Given the description of an element on the screen output the (x, y) to click on. 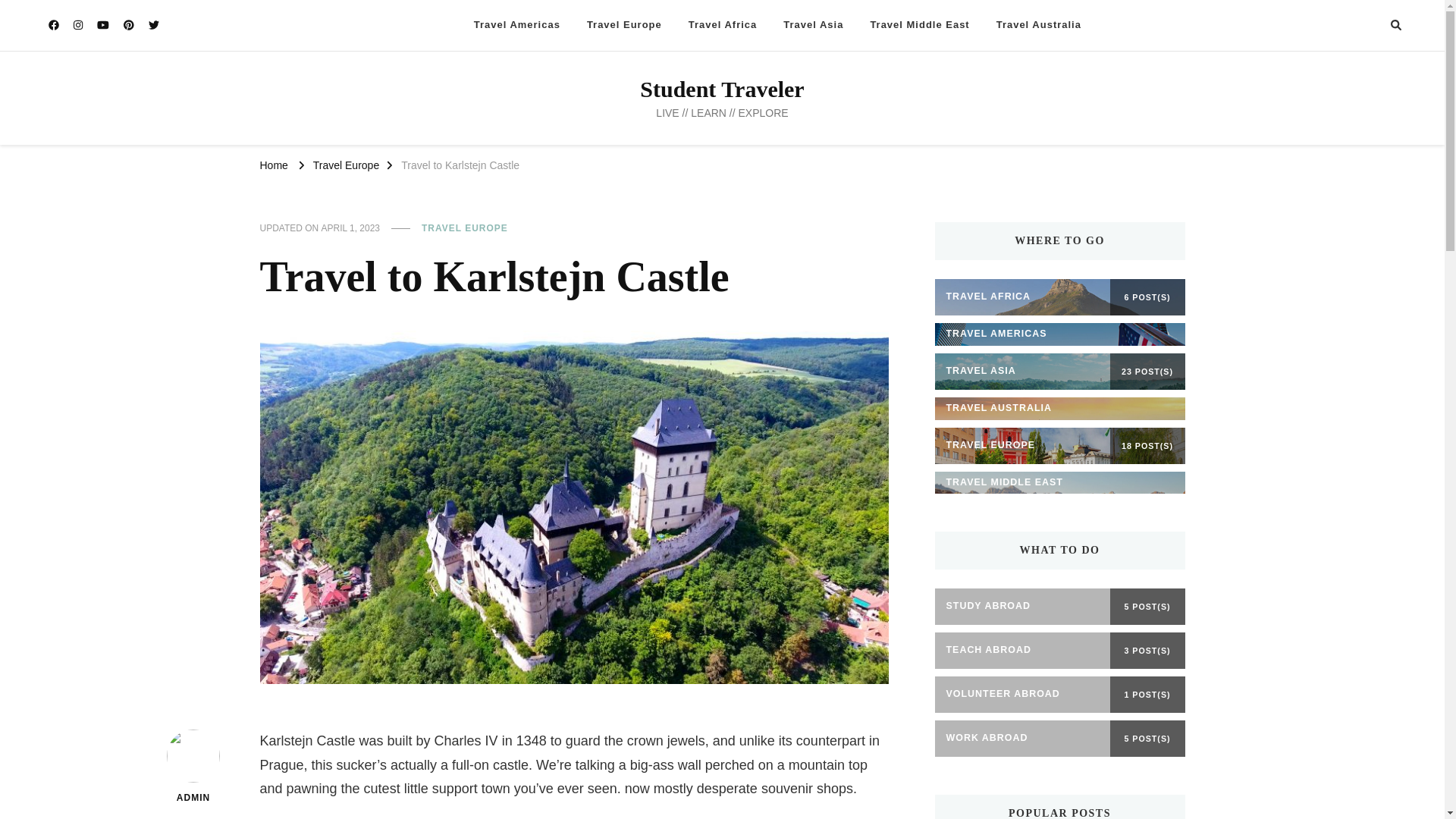
Home (272, 164)
Search (1343, 28)
Travel Europe (623, 25)
Travel Africa (722, 25)
Travel Australia (1039, 25)
TRAVEL AMERICAS (1059, 333)
TRAVEL EUROPE (465, 228)
Travel Asia (812, 25)
Travel to Karlstejn Castle (460, 164)
Travel Middle East (919, 25)
